Given the description of an element on the screen output the (x, y) to click on. 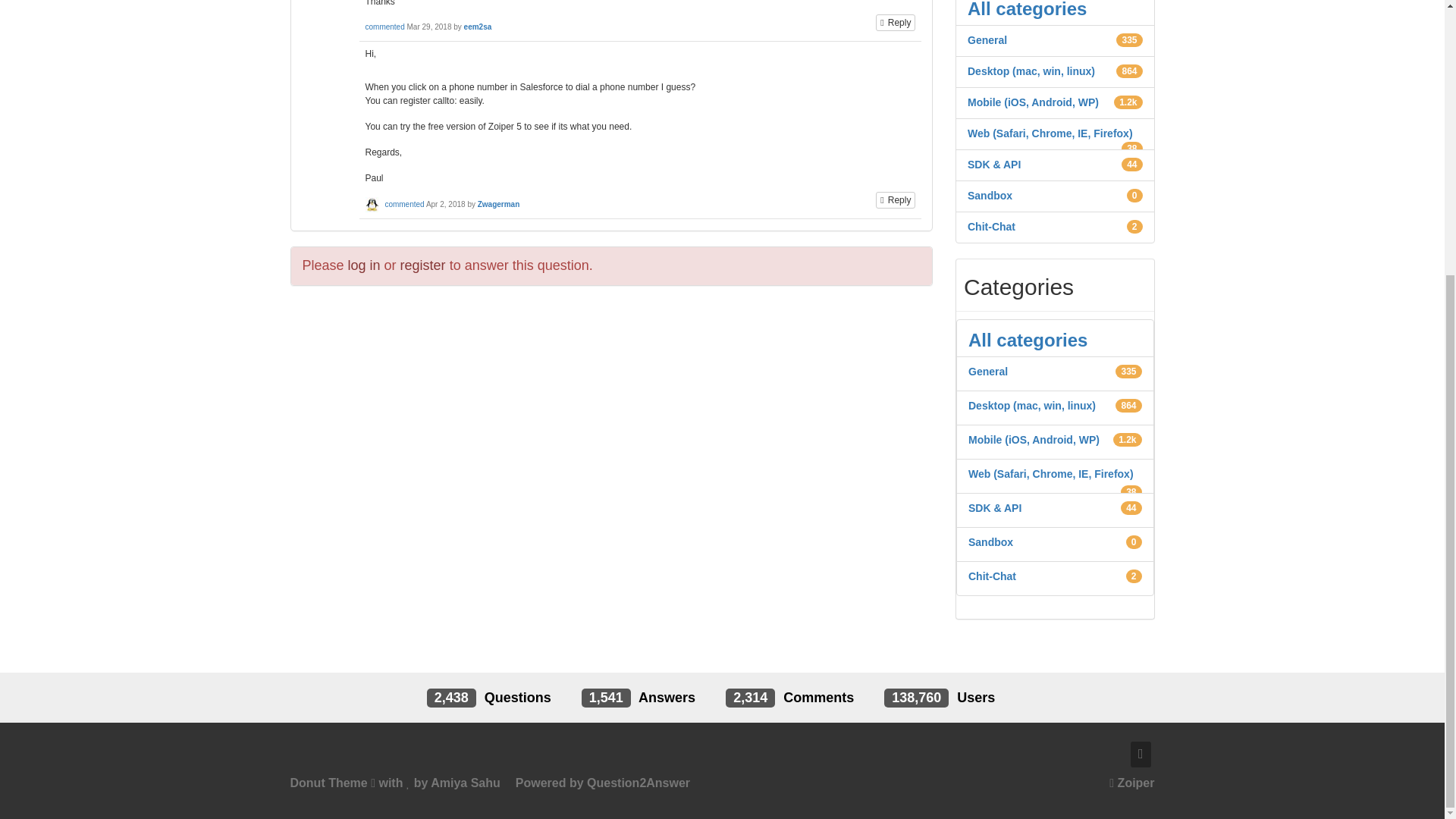
eem2sa (478, 26)
commented (384, 26)
Reply (895, 199)
log in (363, 264)
Zwagerman (498, 203)
commented (403, 203)
register (422, 264)
Reply (895, 22)
